Given the description of an element on the screen output the (x, y) to click on. 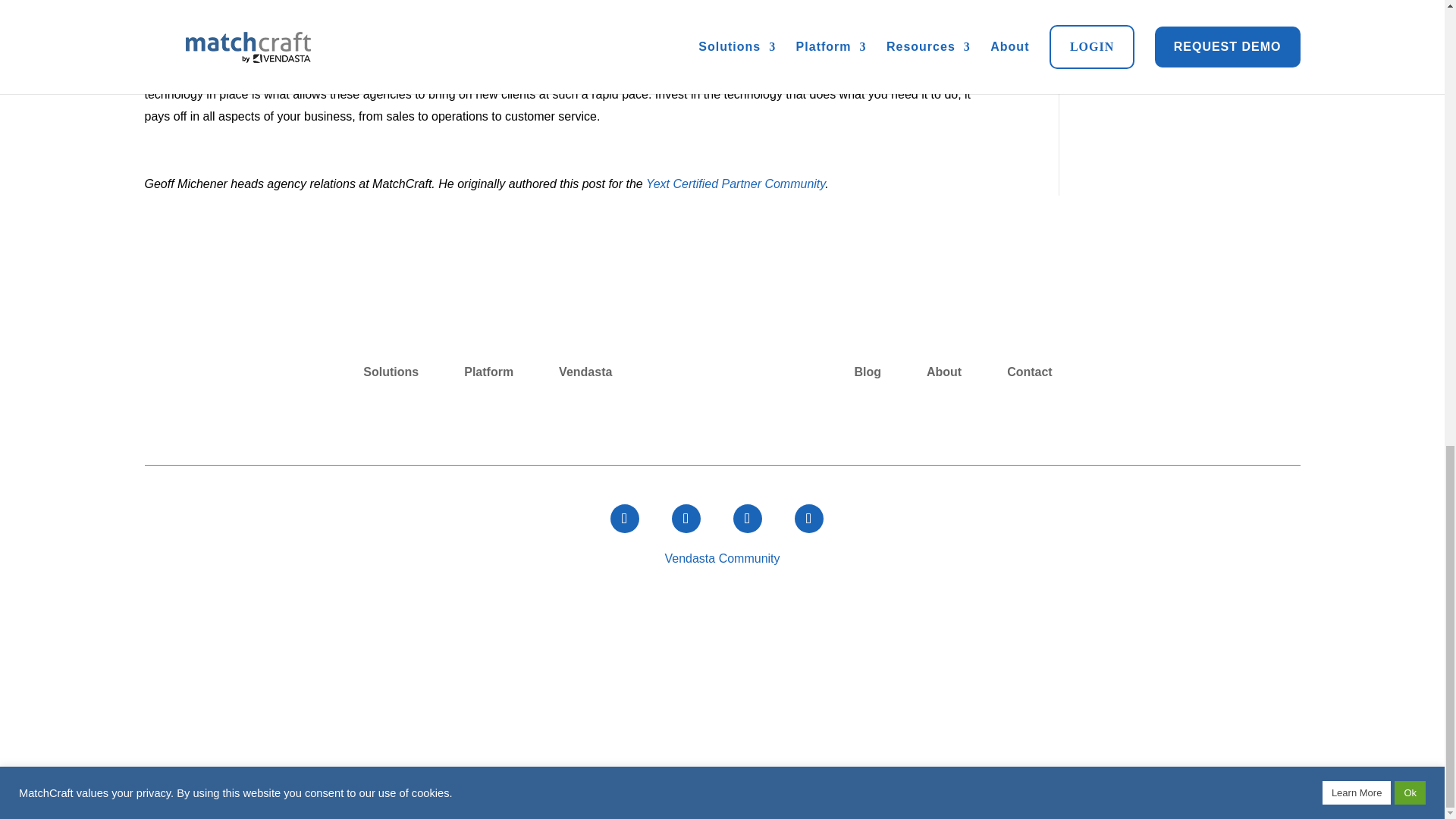
Yext Certified Partner Community (735, 183)
Follow on Facebook (624, 518)
Follow on LinkedIn (809, 518)
Follow on Instagram (746, 518)
Follow on X (685, 518)
Yext Certified Partner Community (735, 183)
